Given the description of an element on the screen output the (x, y) to click on. 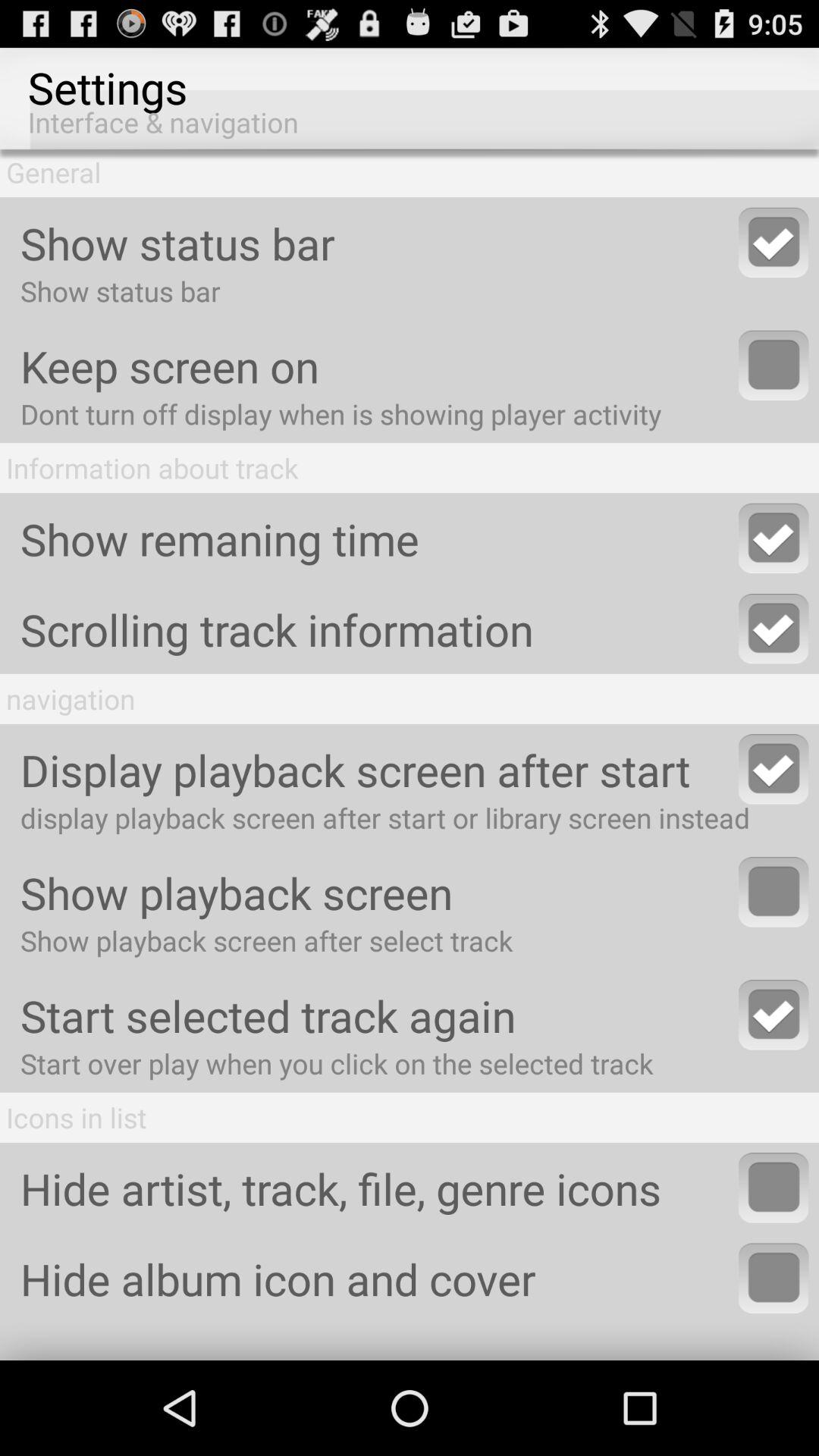
check box to hide album icon and cover (773, 1278)
